Given the description of an element on the screen output the (x, y) to click on. 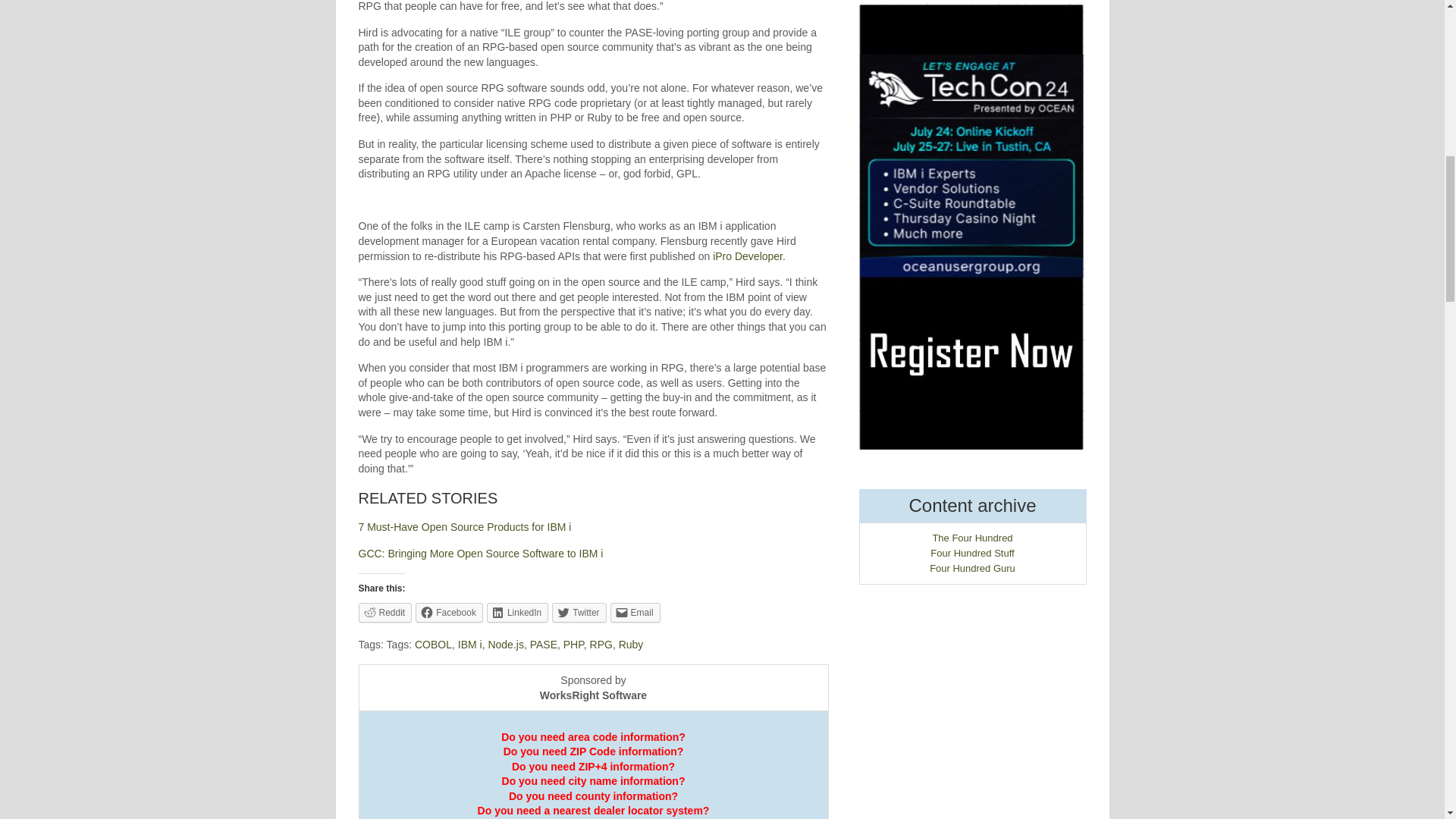
IBM i (469, 644)
PHP (573, 644)
Email (635, 612)
PASE (543, 644)
Reddit (385, 612)
RPG (600, 644)
Ruby (630, 644)
7 Must-Have Open Source Products for IBM i (464, 526)
Click to share on Reddit (385, 612)
GCC: Bringing More Open Source Software to IBM i (480, 553)
Click to email a link to a friend (635, 612)
Click to share on Twitter (578, 612)
LinkedIn (517, 612)
COBOL (432, 644)
Twitter (578, 612)
